Given the description of an element on the screen output the (x, y) to click on. 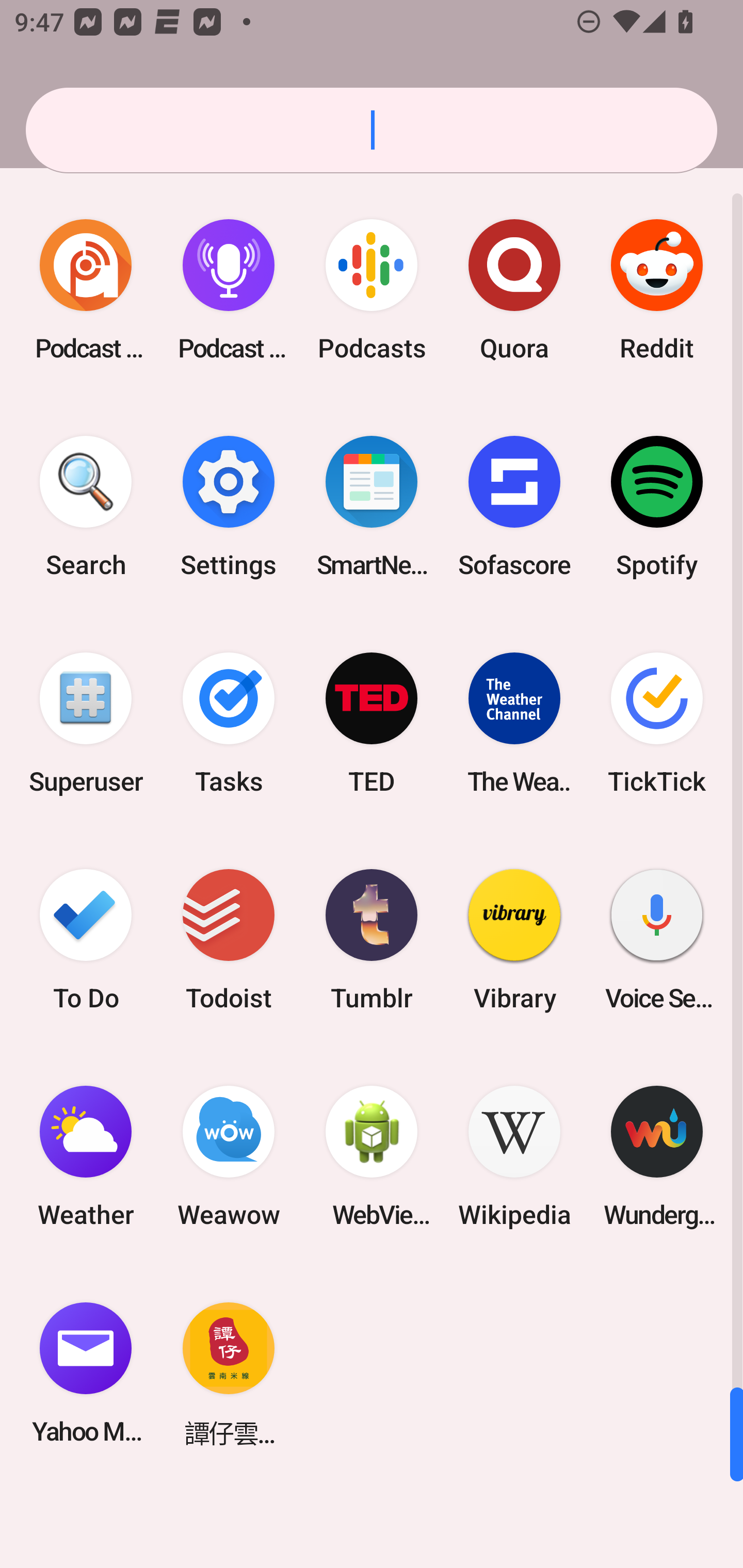
  Search apps (371, 130)
Podcast Addict (85, 289)
Podcast Player (228, 289)
Podcasts (371, 289)
Quora (514, 289)
Reddit (656, 289)
Search (85, 506)
Settings (228, 506)
SmartNews (371, 506)
Sofascore (514, 506)
Spotify (656, 506)
Superuser (85, 722)
Tasks (228, 722)
TED (371, 722)
The Weather Channel (514, 722)
TickTick (656, 722)
To Do (85, 939)
Todoist (228, 939)
Tumblr (371, 939)
Vibrary (514, 939)
Voice Search (656, 939)
Weather (85, 1156)
Weawow (228, 1156)
WebView Browser Tester (371, 1156)
Wikipedia (514, 1156)
Wunderground (656, 1156)
Yahoo Mail (85, 1373)
譚仔雲南米線 (228, 1373)
